Given the description of an element on the screen output the (x, y) to click on. 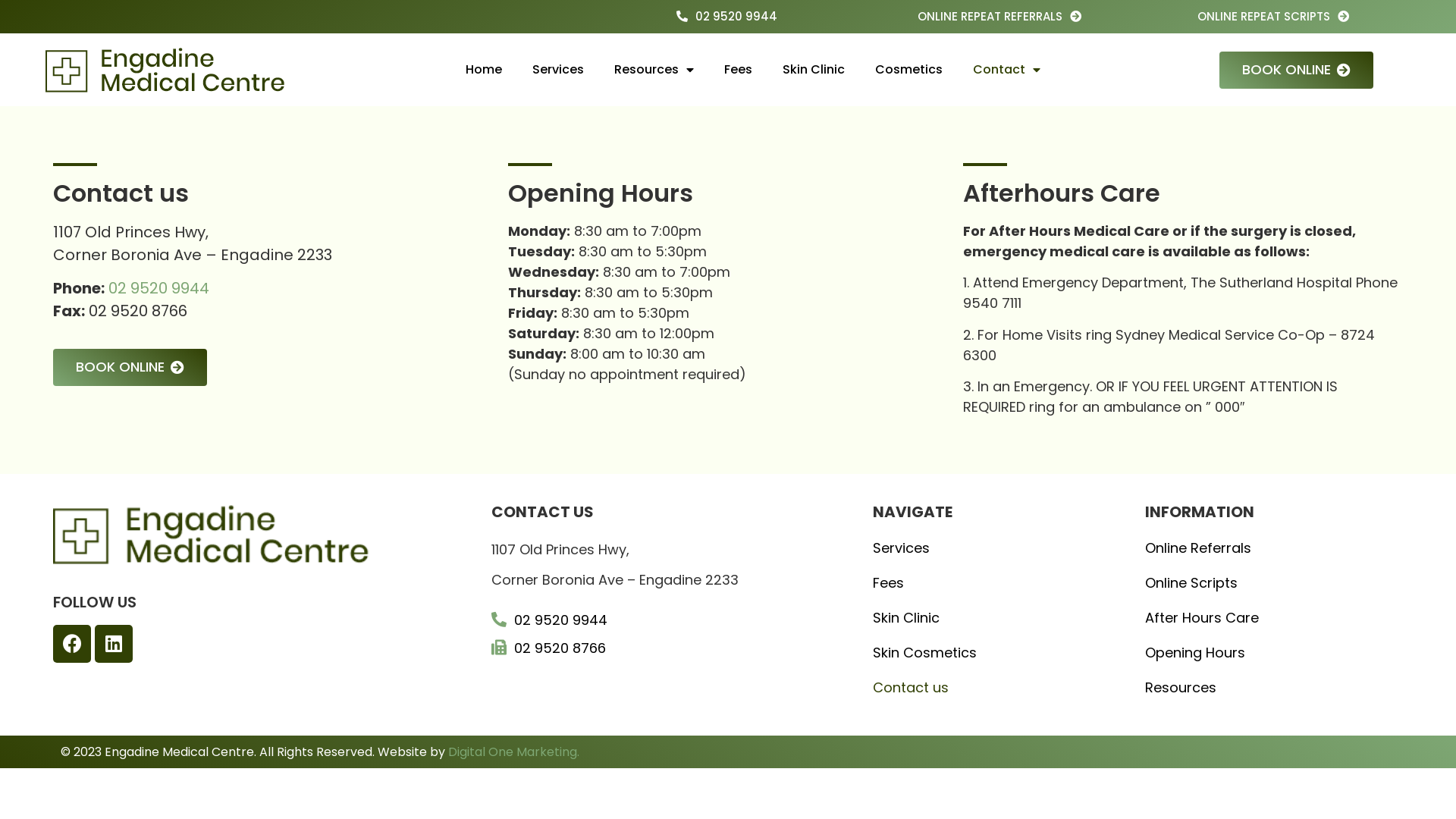
Online Scripts Element type: text (1265, 582)
Skin Cosmetics Element type: text (993, 652)
Cosmetics Element type: text (908, 69)
02 9520 9944 Element type: text (726, 15)
Online Referrals Element type: text (1265, 547)
Contact Element type: text (1006, 69)
Opening Hours Element type: text (1265, 652)
BOOK ONLINE Element type: text (1296, 69)
Resources Element type: text (1265, 687)
Fees Element type: text (993, 582)
Digital One Marketing. Element type: text (513, 751)
02 9520 9944 Element type: text (674, 619)
BOOK ONLINE Element type: text (130, 366)
02 9520 9944 Element type: text (158, 287)
02 9520 8766 Element type: text (674, 647)
ONLINE REPEAT SCRIPTS Element type: text (1273, 15)
After Hours Care Element type: text (1265, 617)
Services Element type: text (993, 547)
Skin Clinic Element type: text (813, 69)
Services Element type: text (558, 69)
Home Element type: text (483, 69)
ONLINE REPEAT REFERRALS Element type: text (999, 15)
Resources Element type: text (654, 69)
Fees Element type: text (738, 69)
Contact us Element type: text (993, 687)
Skin Clinic Element type: text (993, 617)
